Given the description of an element on the screen output the (x, y) to click on. 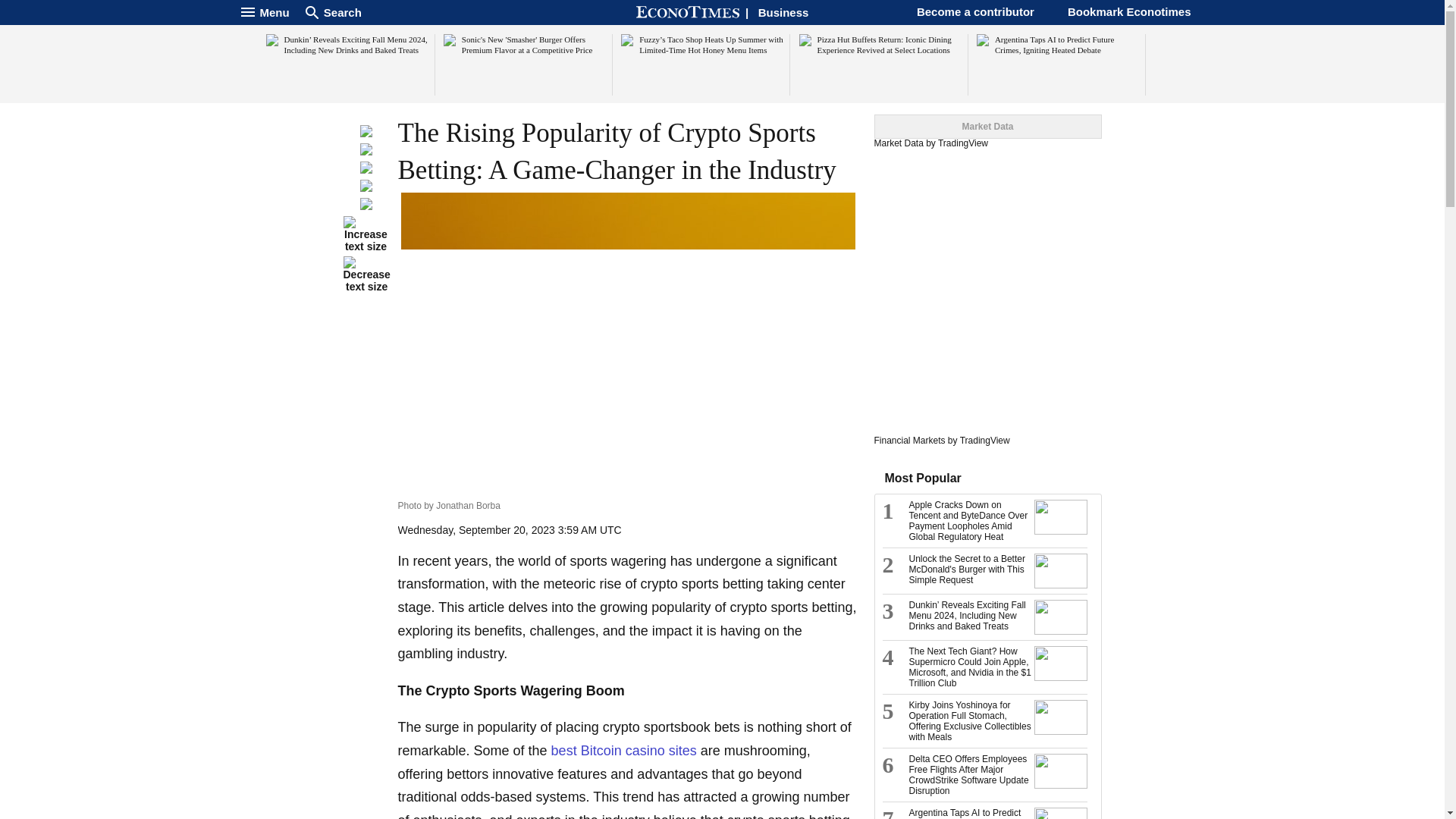
Share this on LinkedIn (365, 169)
Share this on Twitter (365, 151)
Share on Pinterest (365, 205)
Share on reddit (365, 187)
Increase text size (365, 234)
Decrease text size (366, 274)
Business (783, 11)
Become a contributor (975, 11)
Share this on Facebook (365, 133)
